Given the description of an element on the screen output the (x, y) to click on. 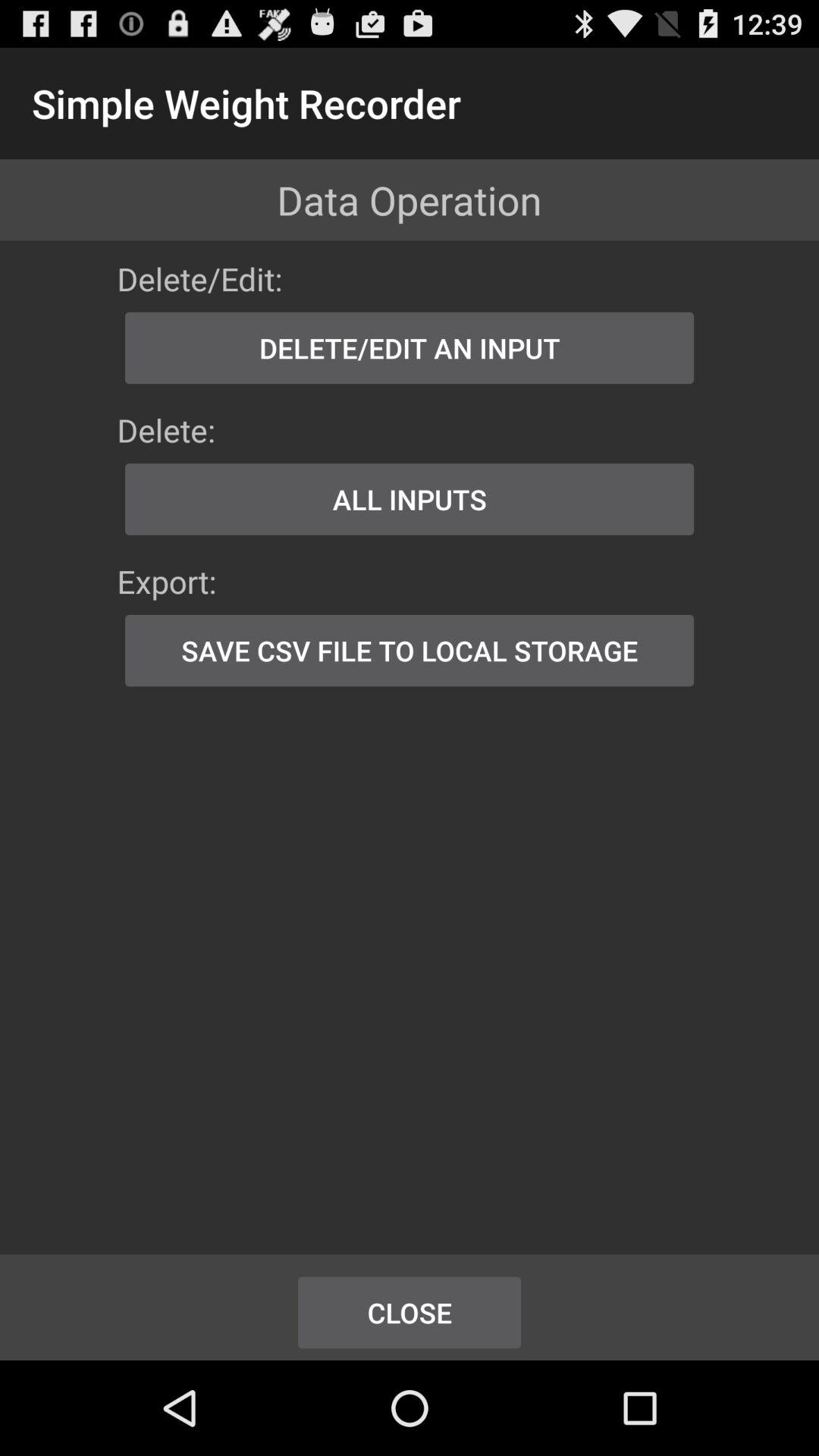
swipe to the close (409, 1312)
